Given the description of an element on the screen output the (x, y) to click on. 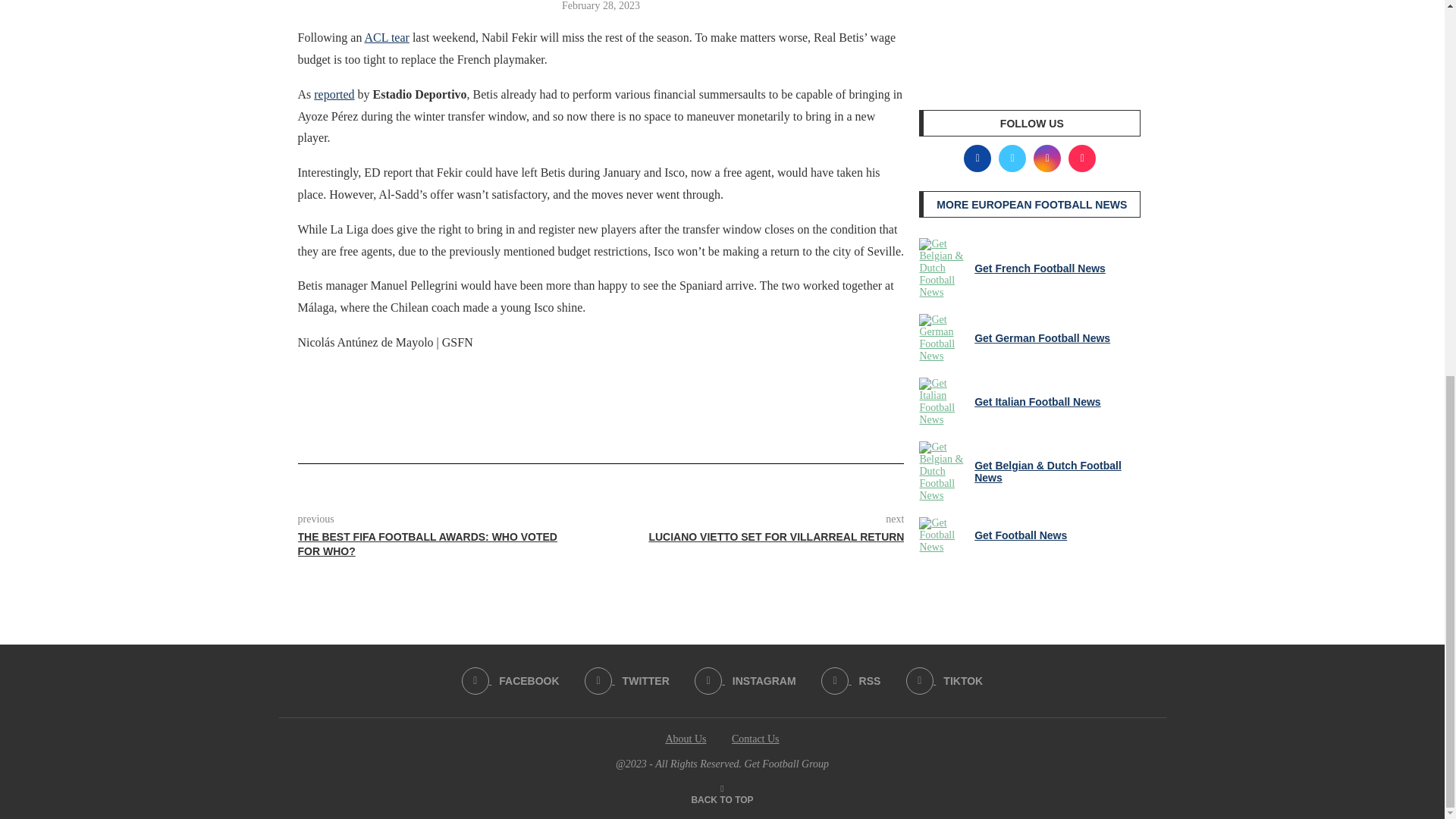
Get Football News (943, 534)
Get Italian Football News (943, 401)
Get German Football News (943, 337)
